Given the description of an element on the screen output the (x, y) to click on. 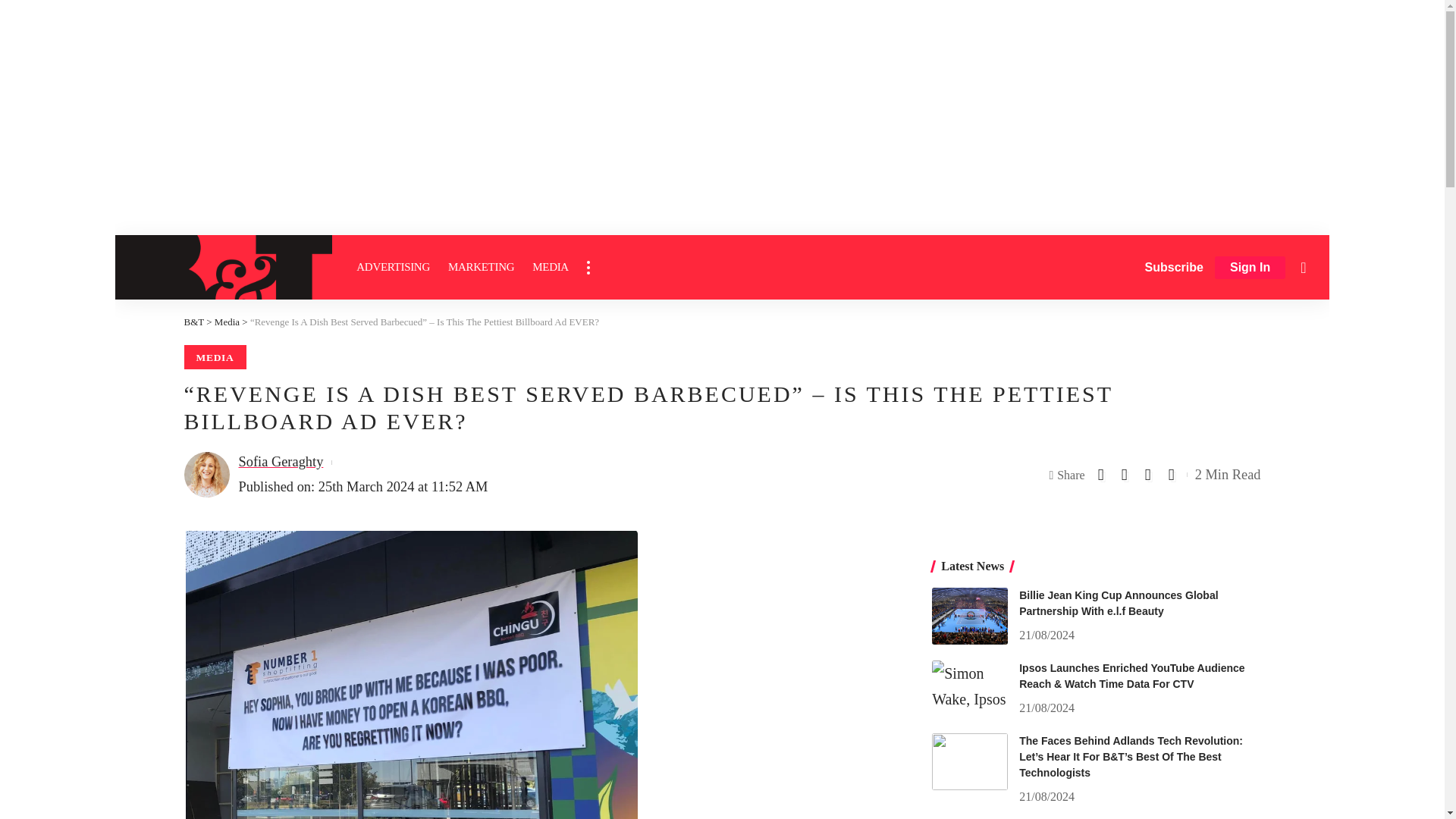
ADVERTISING (393, 267)
Sign In (1249, 267)
Subscribe (1174, 267)
MARKETING (480, 267)
Go to the Media Category archives. (227, 321)
